Given the description of an element on the screen output the (x, y) to click on. 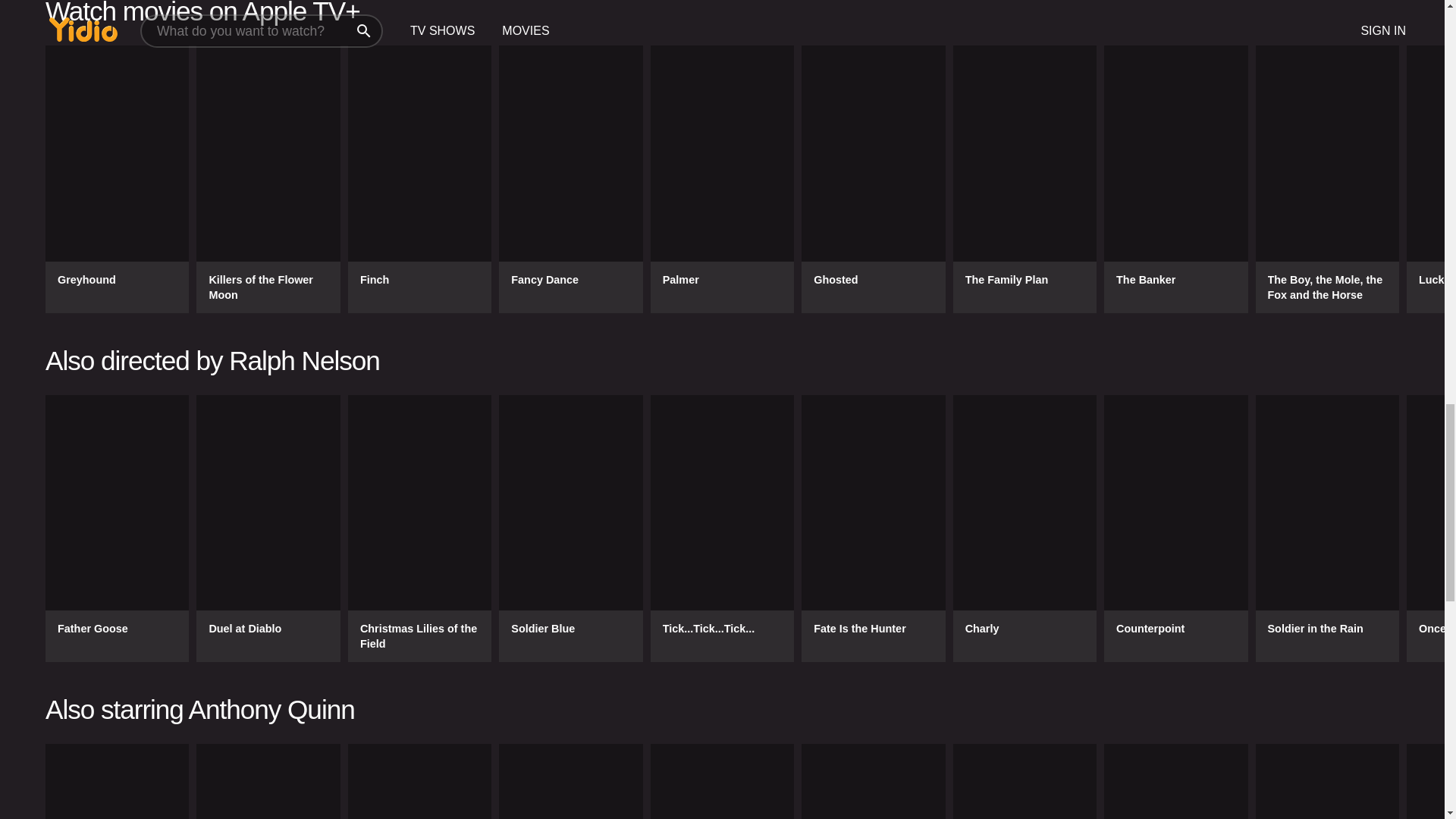
Finch (419, 178)
The Boy, the Mole, the Fox and the Horse (1327, 178)
Fate Is the Hunter (873, 527)
Christmas Lilies of the Field (419, 527)
Soldier Blue (570, 527)
Counterpoint (1175, 527)
Palmer (721, 178)
Tick...Tick...Tick... (721, 527)
Father Goose (117, 527)
Duel at Diablo (267, 527)
Ghosted (873, 178)
The Family Plan (1024, 178)
The Banker (1175, 178)
Killers of the Flower Moon (267, 178)
Charly (1024, 527)
